Given the description of an element on the screen output the (x, y) to click on. 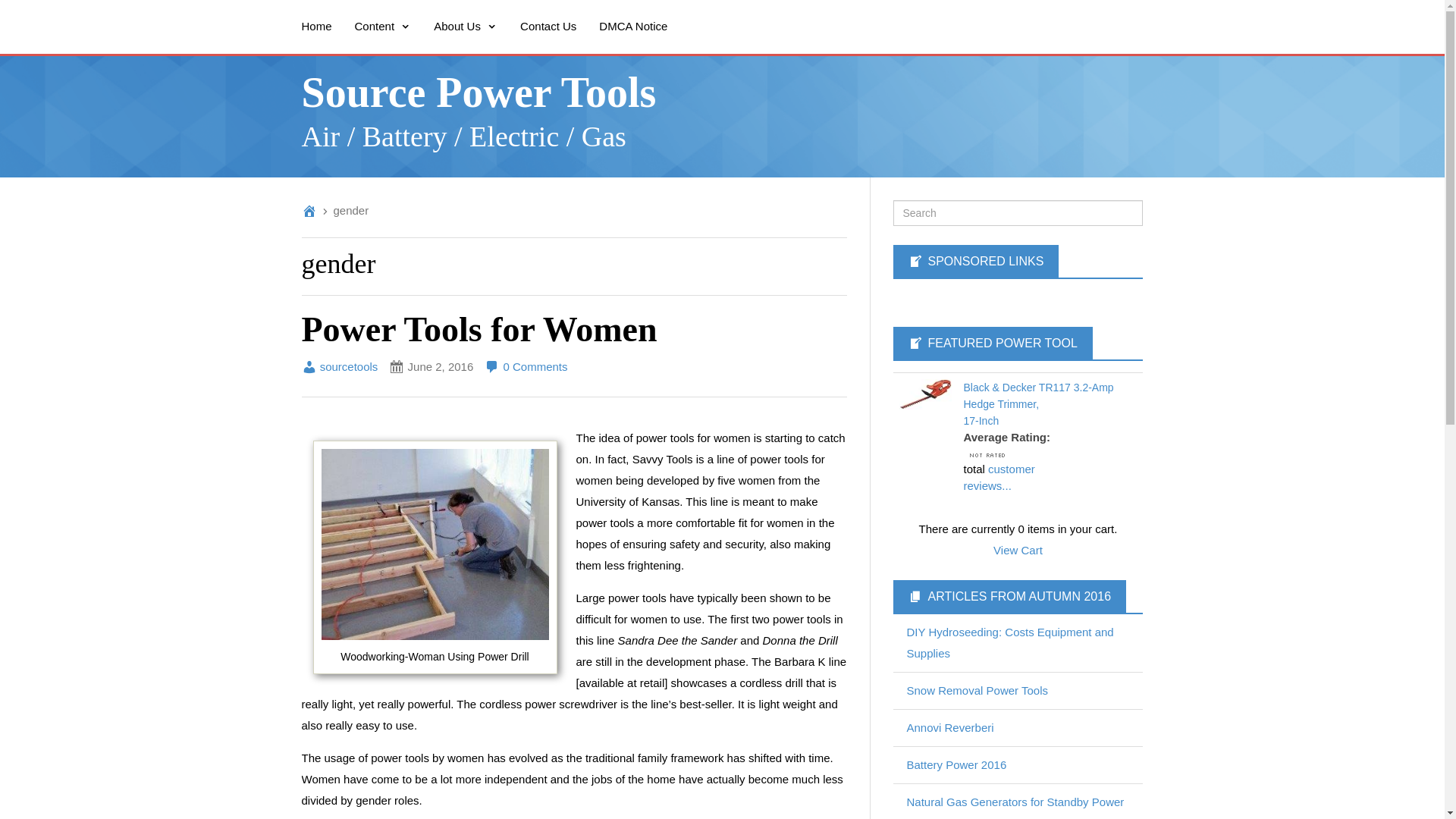
Home (315, 26)
Power Tools for Women (479, 329)
Search for: (1017, 212)
Contact Us (548, 26)
Thursday, June 2, 2016 3:22 pm (430, 366)
Woman Creating Art With Power Tools (434, 543)
 sourcetools (339, 366)
About Us (465, 26)
Source Power Tools (478, 92)
DMCA Notice (997, 476)
0 Comments (633, 26)
Content (525, 366)
DIY Hydroseeding: Costs Equipment and Supplies (383, 26)
View Cart (1010, 642)
